Given the description of an element on the screen output the (x, y) to click on. 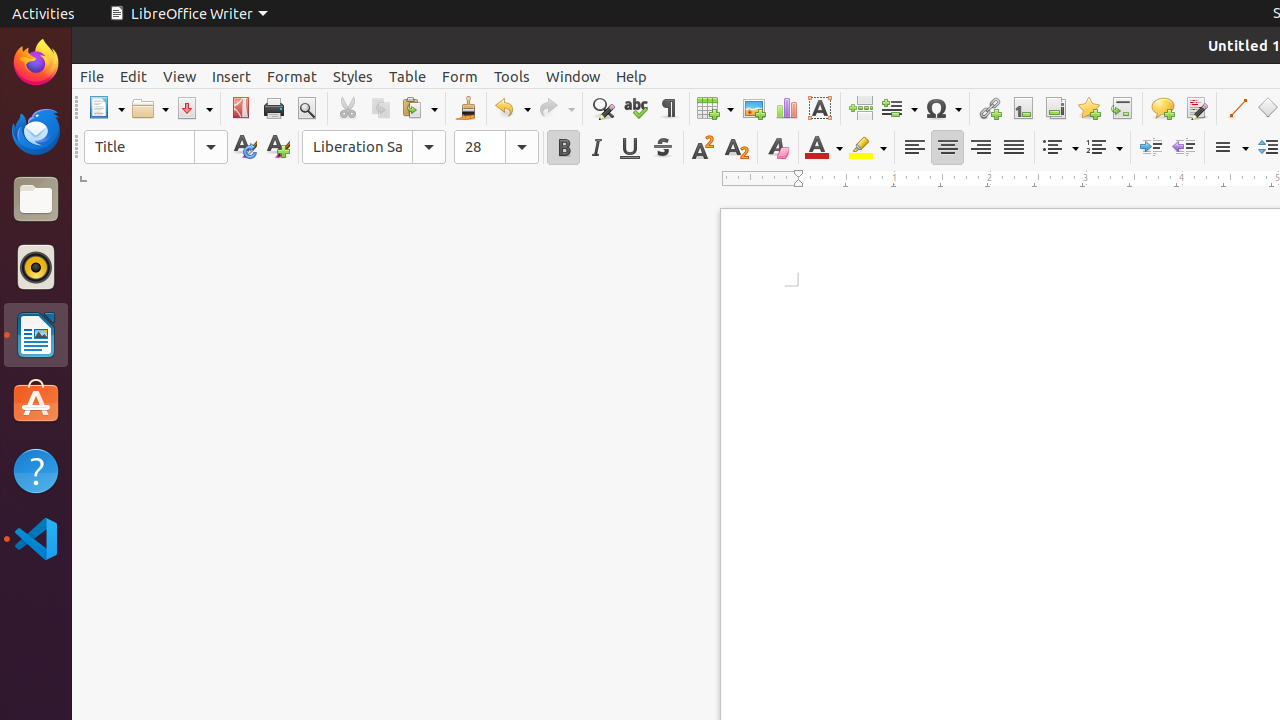
View Element type: menu (179, 76)
Bookmark Element type: push-button (1088, 108)
Underline Element type: push-button (629, 147)
Center Element type: toggle-button (947, 147)
Help Element type: push-button (36, 470)
